Given the description of an element on the screen output the (x, y) to click on. 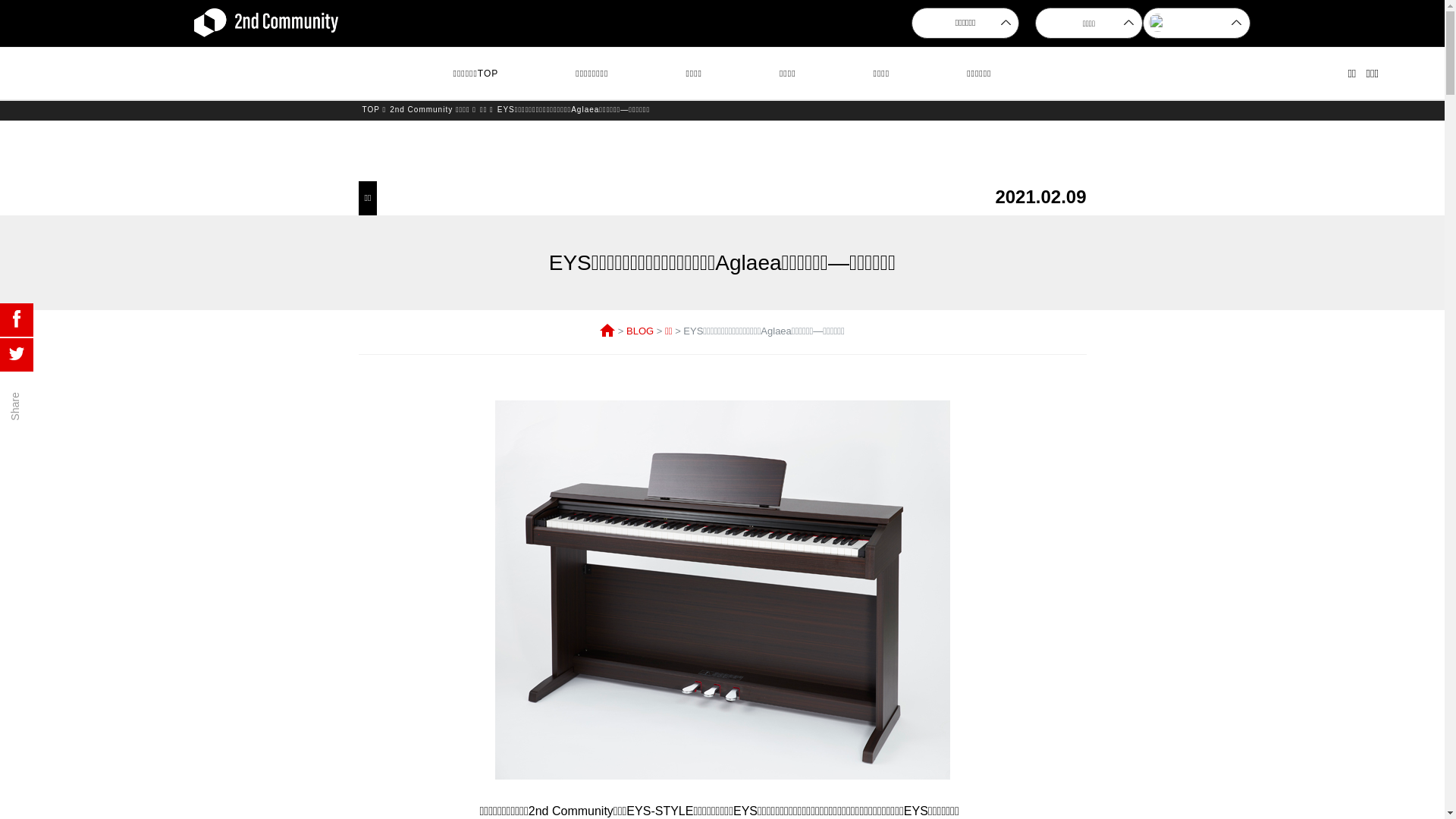
TOP Element type: text (370, 109)
BLOG Element type: text (639, 330)
